Given the description of an element on the screen output the (x, y) to click on. 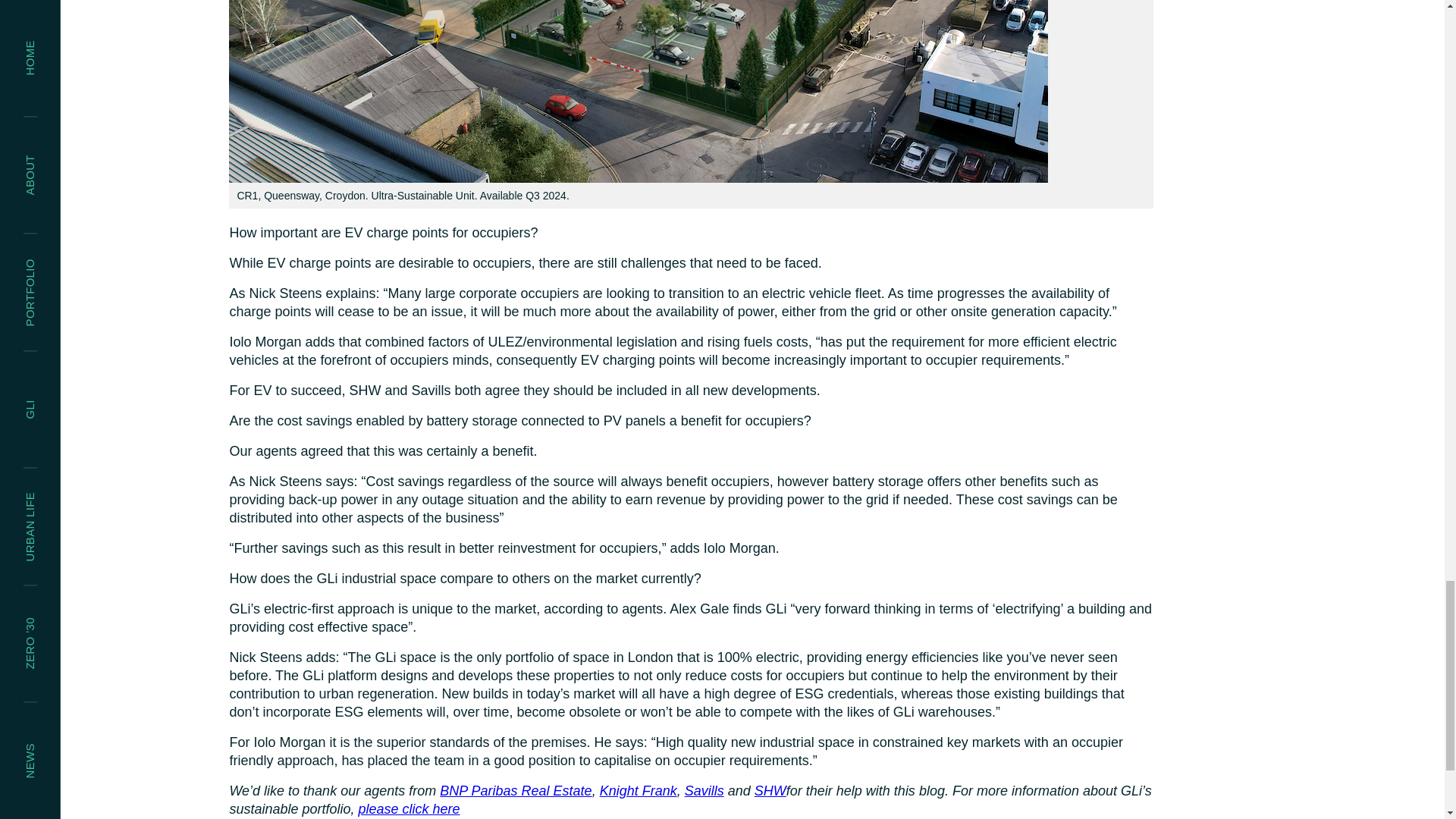
please click here (409, 808)
Knight Frank (638, 790)
SHW (770, 790)
BNP Paribas Real Estate (515, 790)
Savills (703, 790)
